Given the description of an element on the screen output the (x, y) to click on. 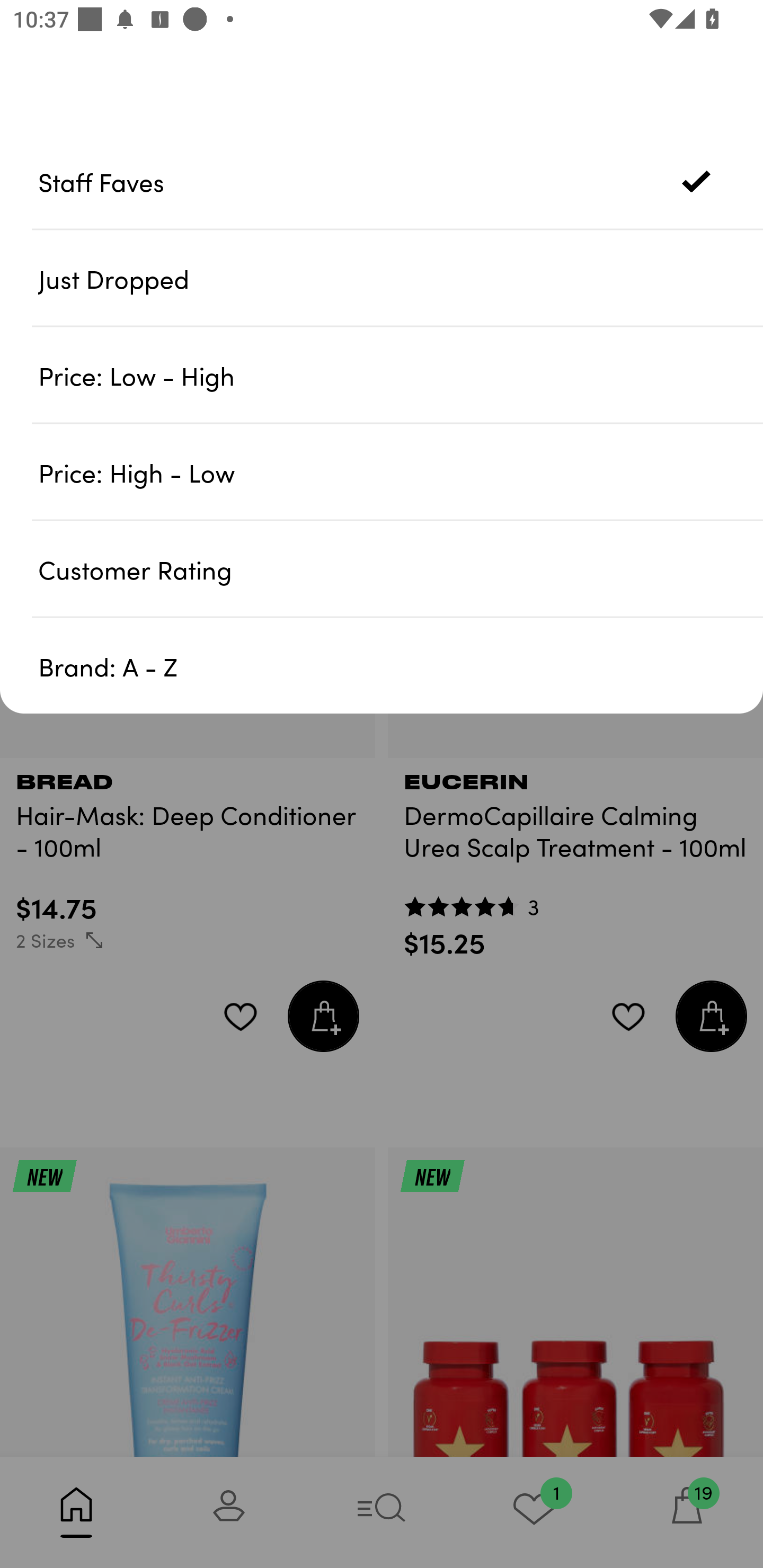
Staff Faves (400, 180)
Just Dropped (400, 278)
Price: Low - High (400, 375)
Price: High - Low (400, 471)
Customer Rating (400, 568)
Brand: A - Z (400, 665)
